Given the description of an element on the screen output the (x, y) to click on. 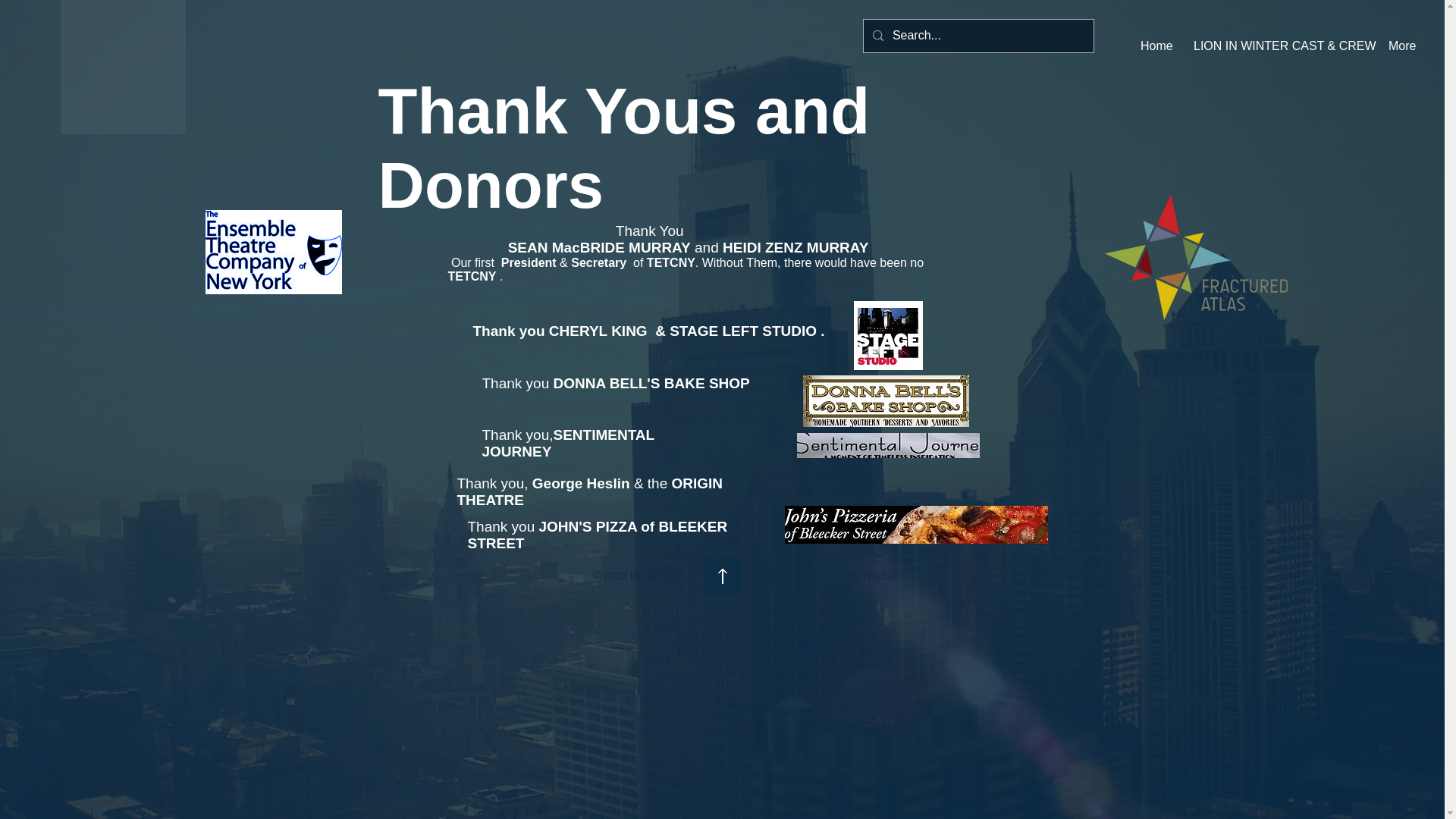
Proudly created with Wix.com (832, 575)
Home (1155, 46)
